Given the description of an element on the screen output the (x, y) to click on. 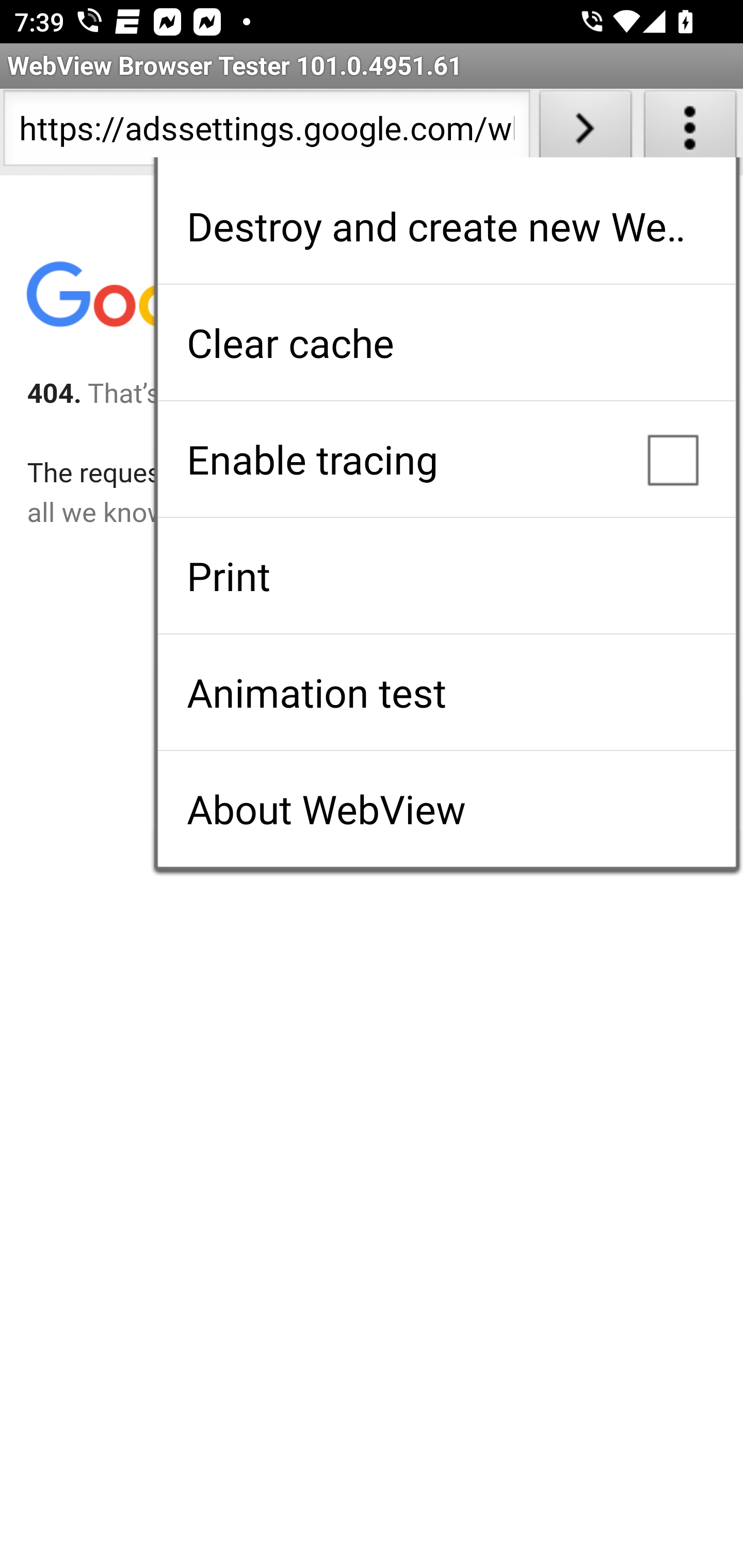
Destroy and create new WebView (446, 225)
Clear cache (446, 342)
Enable tracing (446, 459)
Print (446, 575)
Animation test (446, 692)
About WebView (446, 809)
